Given the description of an element on the screen output the (x, y) to click on. 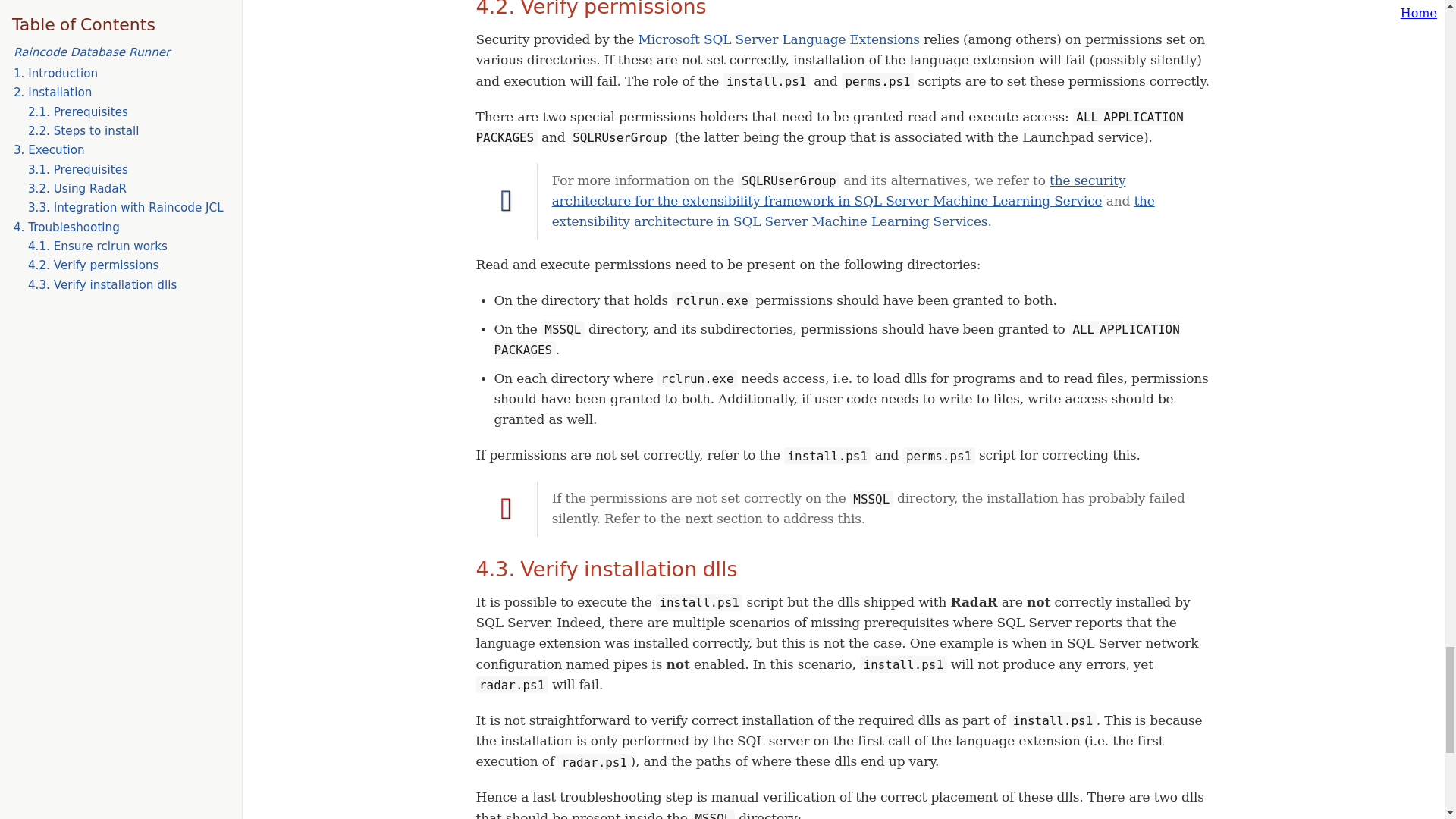
Important (506, 508)
Note (506, 200)
